Given the description of an element on the screen output the (x, y) to click on. 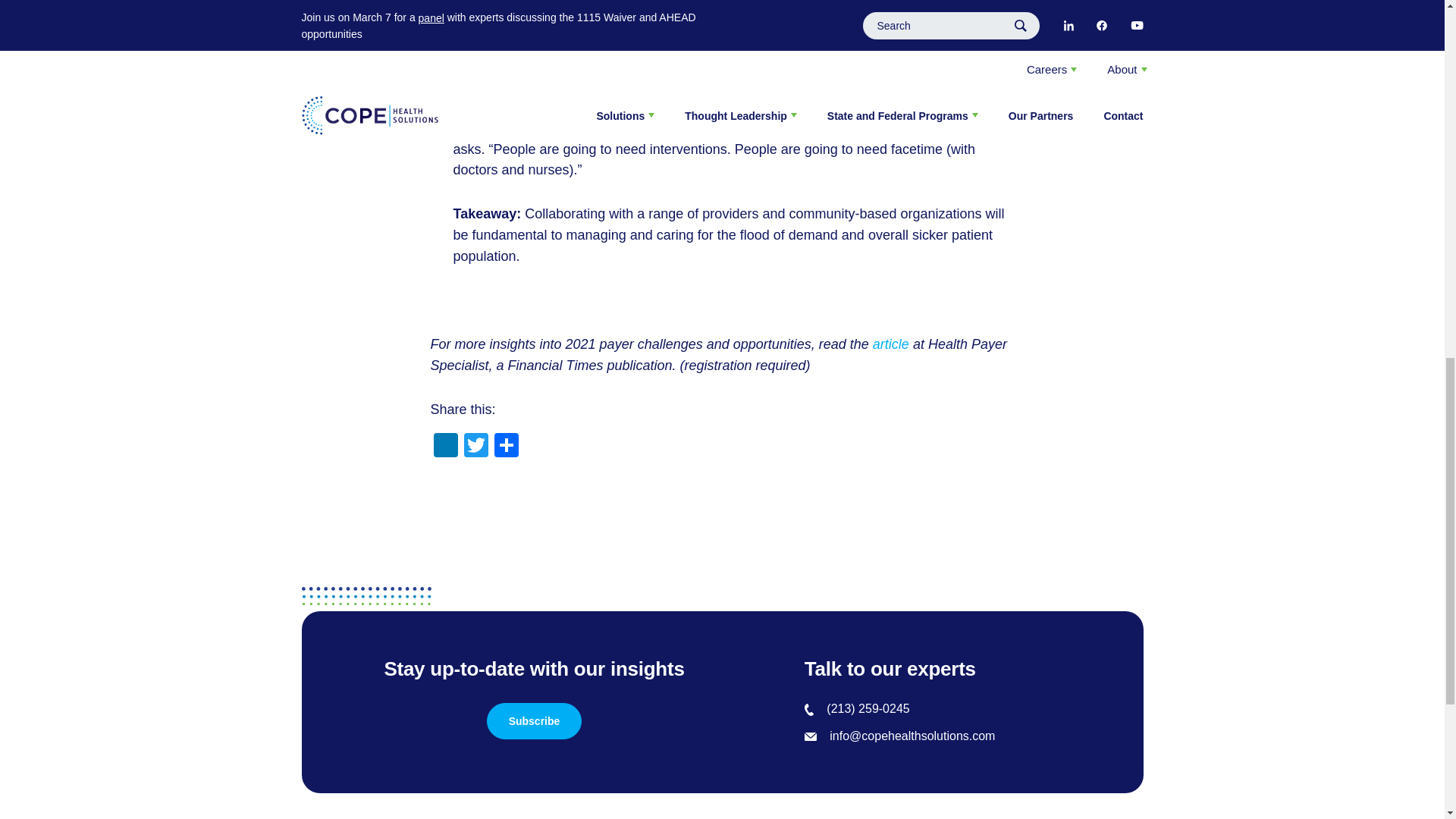
LinkedIn (445, 447)
Twitter (476, 447)
